Given the description of an element on the screen output the (x, y) to click on. 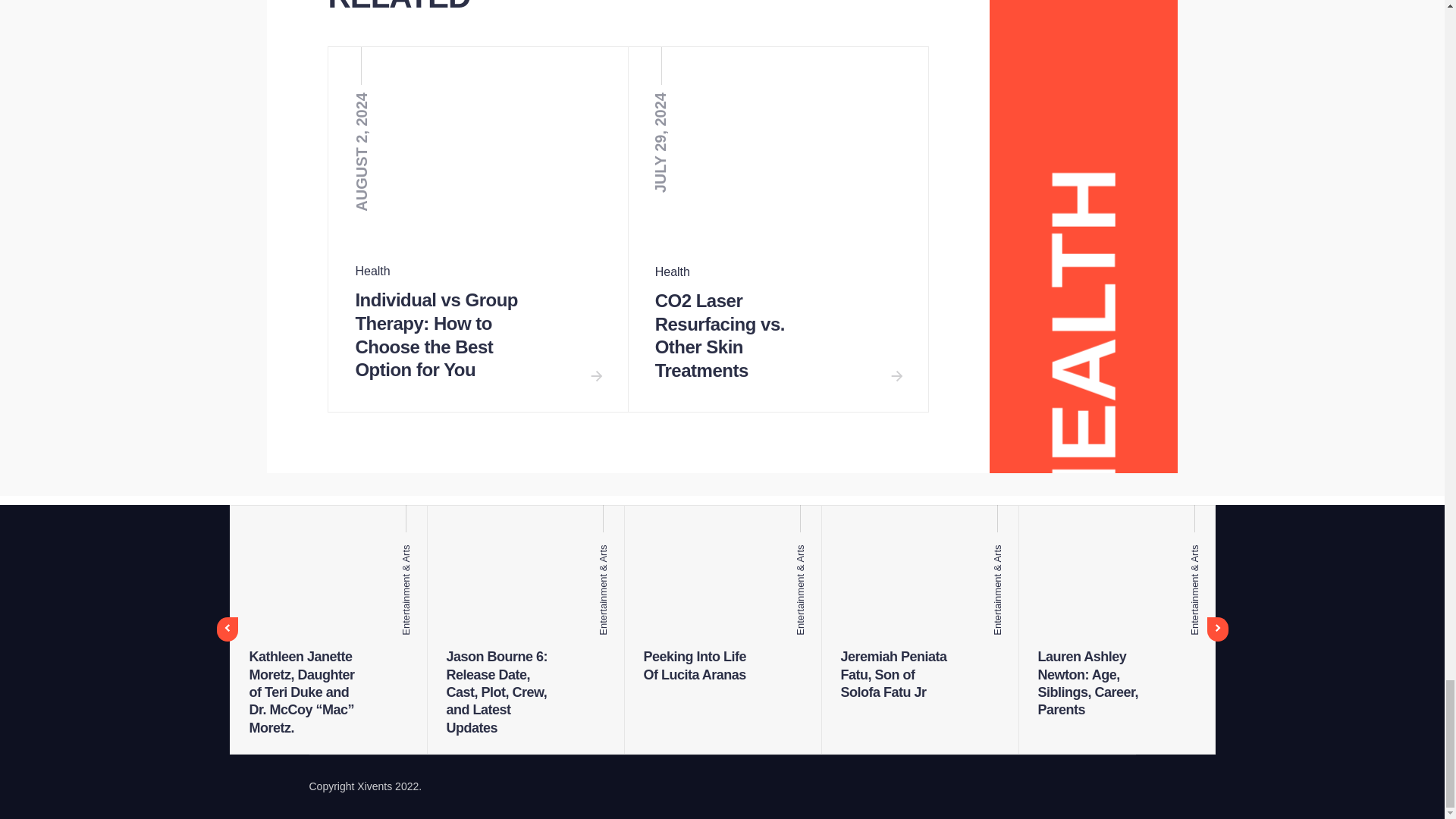
Health (372, 270)
